Given the description of an element on the screen output the (x, y) to click on. 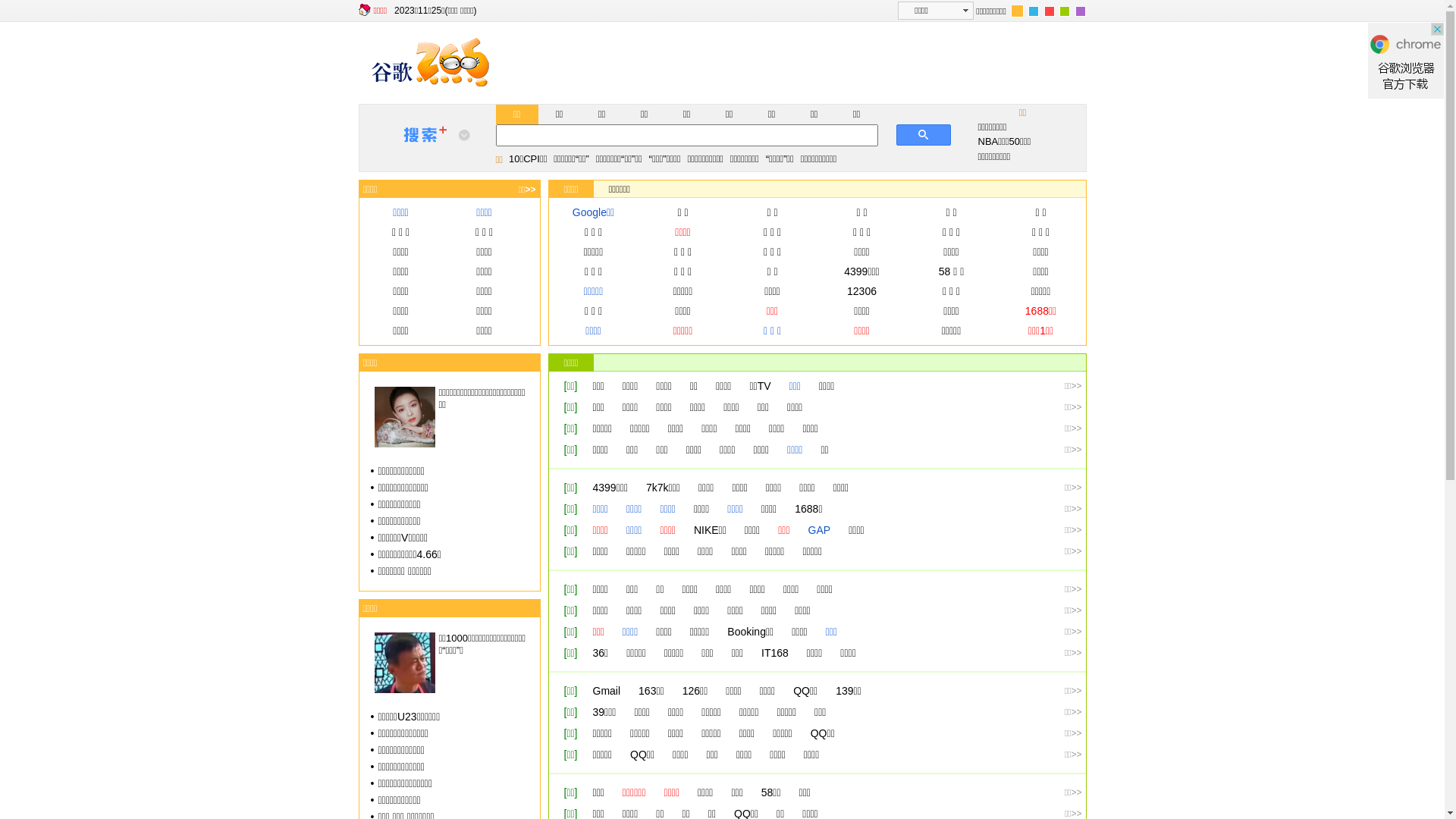
12306 Element type: text (861, 291)
IT168 Element type: text (774, 652)
GAP Element type: text (819, 530)
Gmail Element type: text (607, 690)
